Given the description of an element on the screen output the (x, y) to click on. 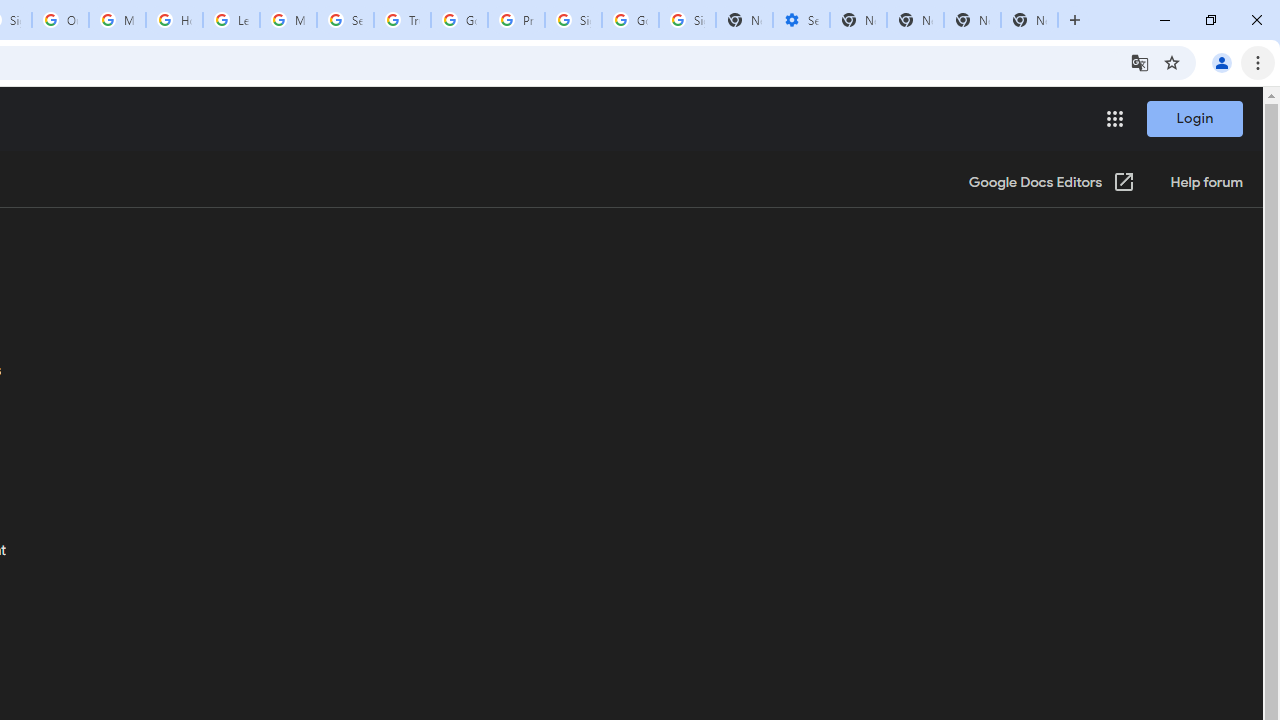
Settings - Performance (801, 20)
Help forum (1205, 183)
Trusted Information and Content - Google Safety Center (402, 20)
Search our Doodle Library Collection - Google Doodles (345, 20)
Login (1194, 118)
Sign in - Google Accounts (687, 20)
Google Docs Editors (Opens in new window) (1051, 183)
